Given the description of an element on the screen output the (x, y) to click on. 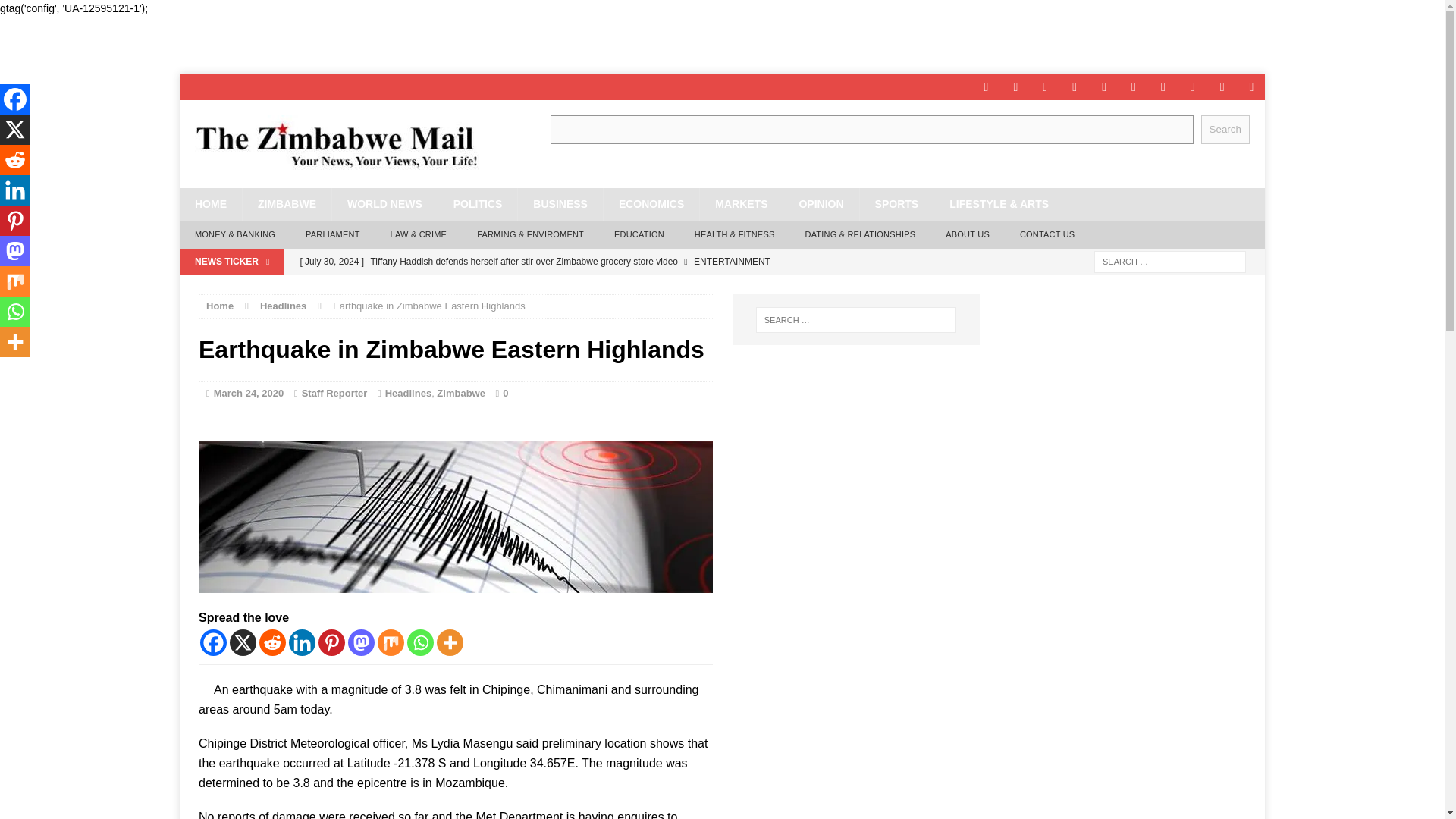
Pinterest (331, 642)
Home (219, 306)
Kasukuwere Lays Gauntlet At Mnangagwa Over Third Term Bid (589, 287)
Mix (390, 642)
Earth quake (455, 516)
CONTACT US (1047, 234)
ZIMBABWE (286, 204)
SPORTS (896, 204)
Reddit (272, 642)
X (243, 642)
Facebook (213, 642)
WORLD NEWS (384, 204)
Search (1225, 129)
ECONOMICS (650, 204)
